Given the description of an element on the screen output the (x, y) to click on. 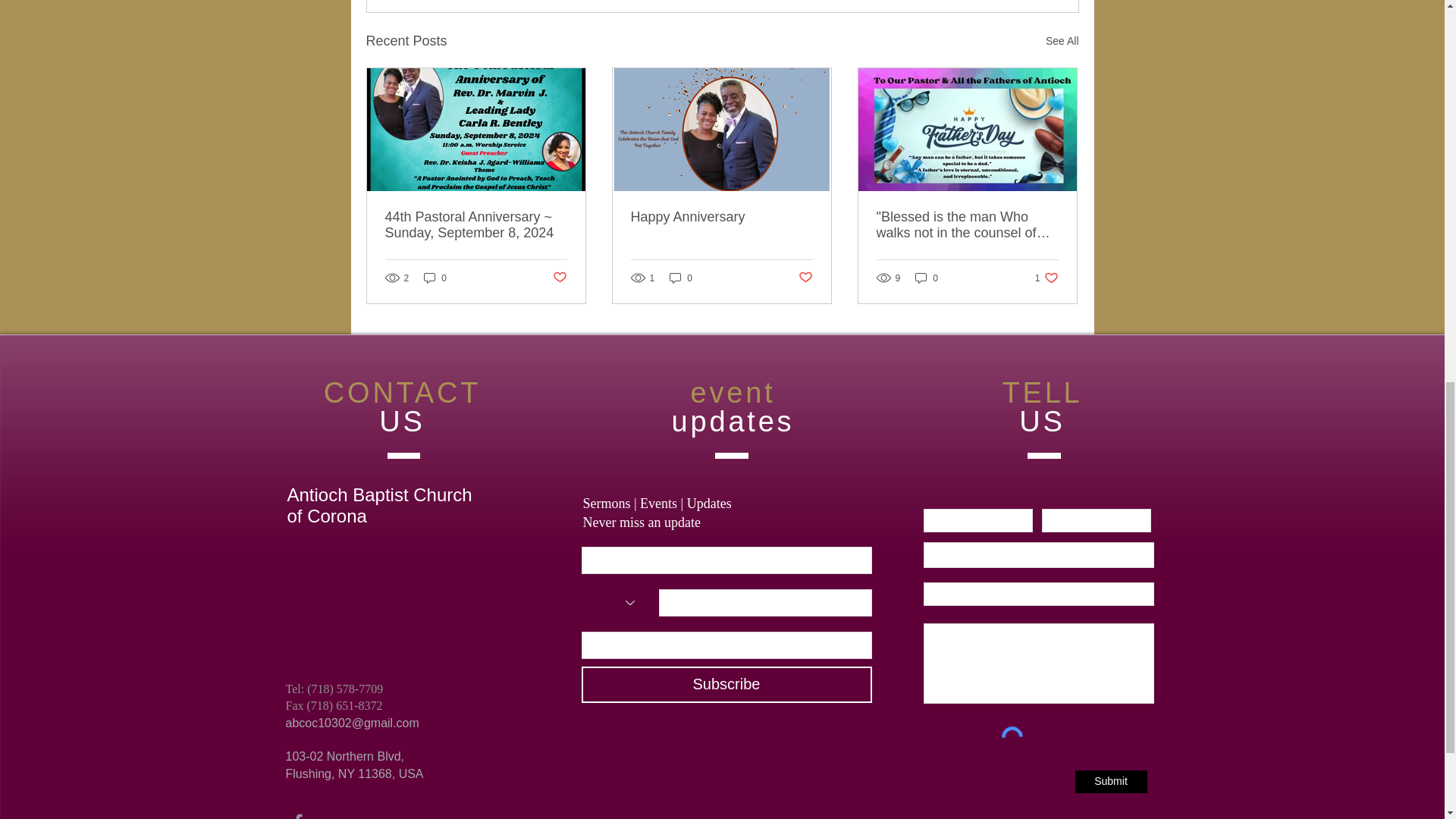
Submit (1111, 781)
See All (1061, 41)
0 (435, 278)
Subscribe (725, 684)
0 (926, 278)
Post not marked as liked (804, 277)
Post not marked as liked (558, 277)
Happy Anniversary (1046, 278)
0 (721, 217)
